Given the description of an element on the screen output the (x, y) to click on. 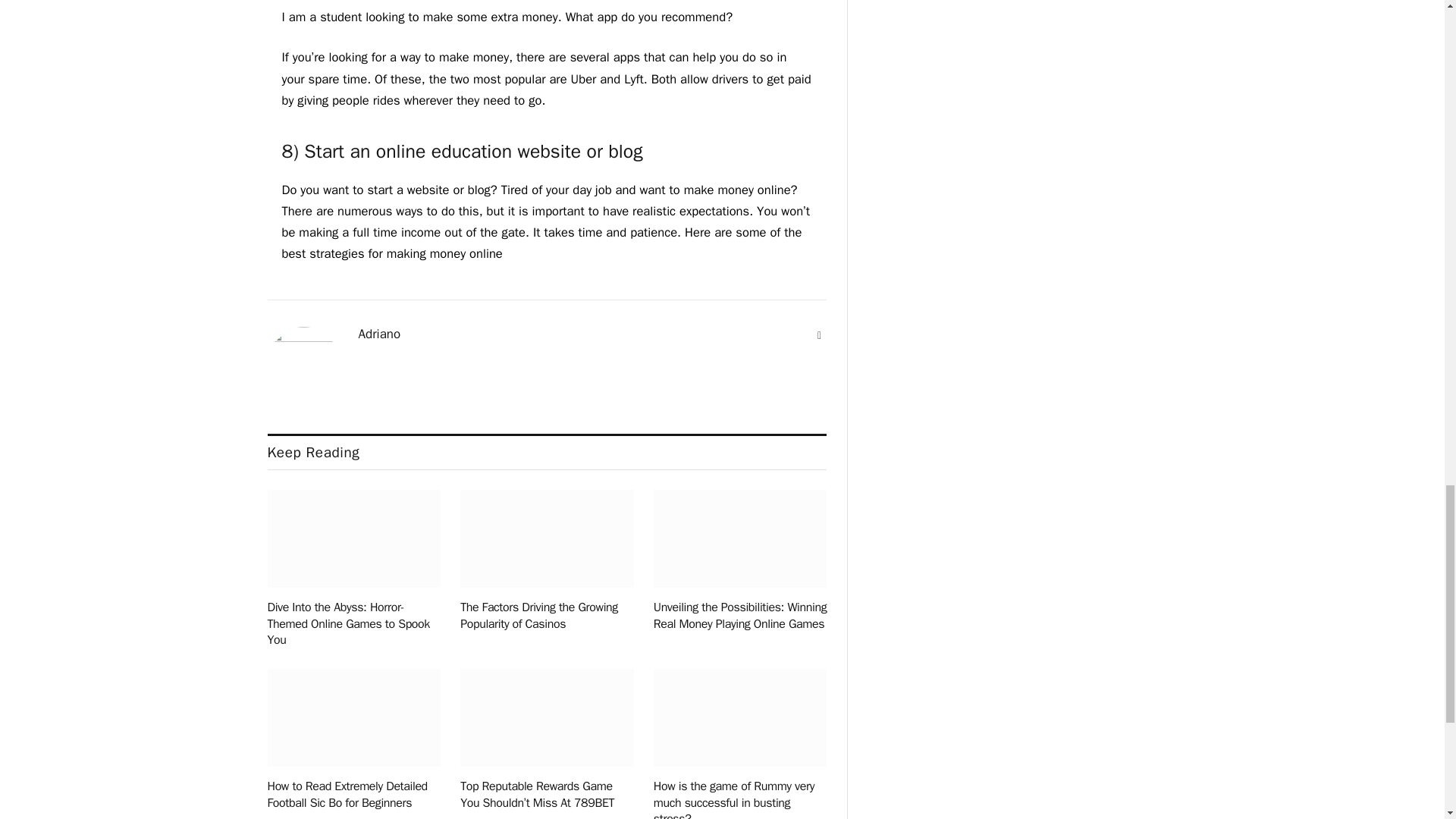
How to Read Extremely Detailed Football Sic Bo for Beginners (353, 795)
Adriano (379, 334)
Posts by Adriano (379, 334)
Dive Into the Abyss: Horror-Themed Online Games to Spook You (353, 624)
Website (818, 335)
The Factors Driving the Growing Popularity of Casinos (546, 616)
